Given the description of an element on the screen output the (x, y) to click on. 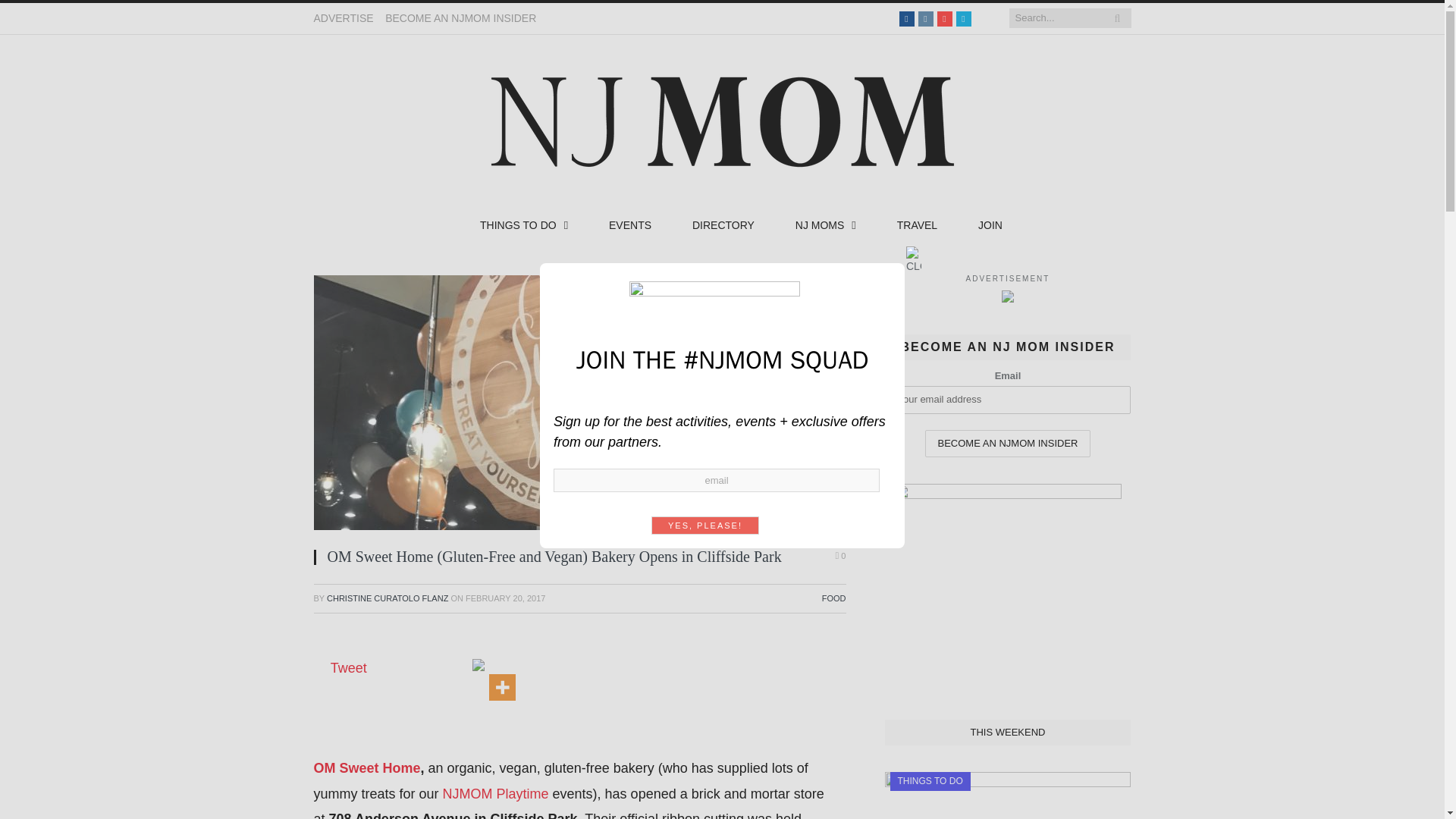
YouTube (944, 18)
EVENTS (629, 226)
Yes, Please! (704, 524)
TRAVEL (916, 226)
Facebook (906, 18)
Instagram (925, 18)
JOIN (990, 226)
Facebook (906, 18)
Posts by Christine Curatolo Flanz (387, 597)
FOOD (833, 597)
